Given the description of an element on the screen output the (x, y) to click on. 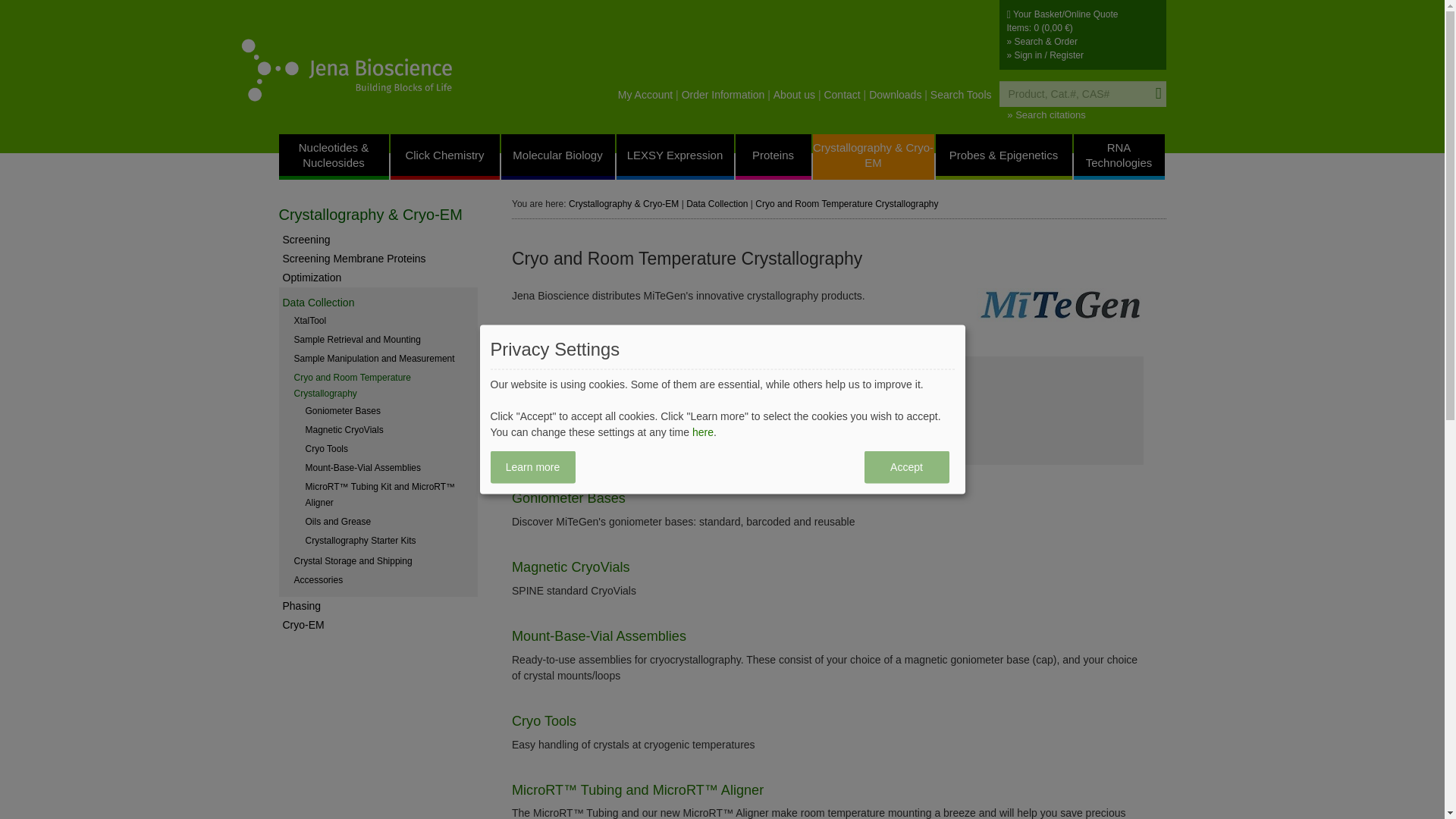
Order Information (727, 94)
About us (798, 94)
Downloads (899, 94)
Search Tools (960, 94)
My Account (649, 94)
Contact (846, 94)
